Given the description of an element on the screen output the (x, y) to click on. 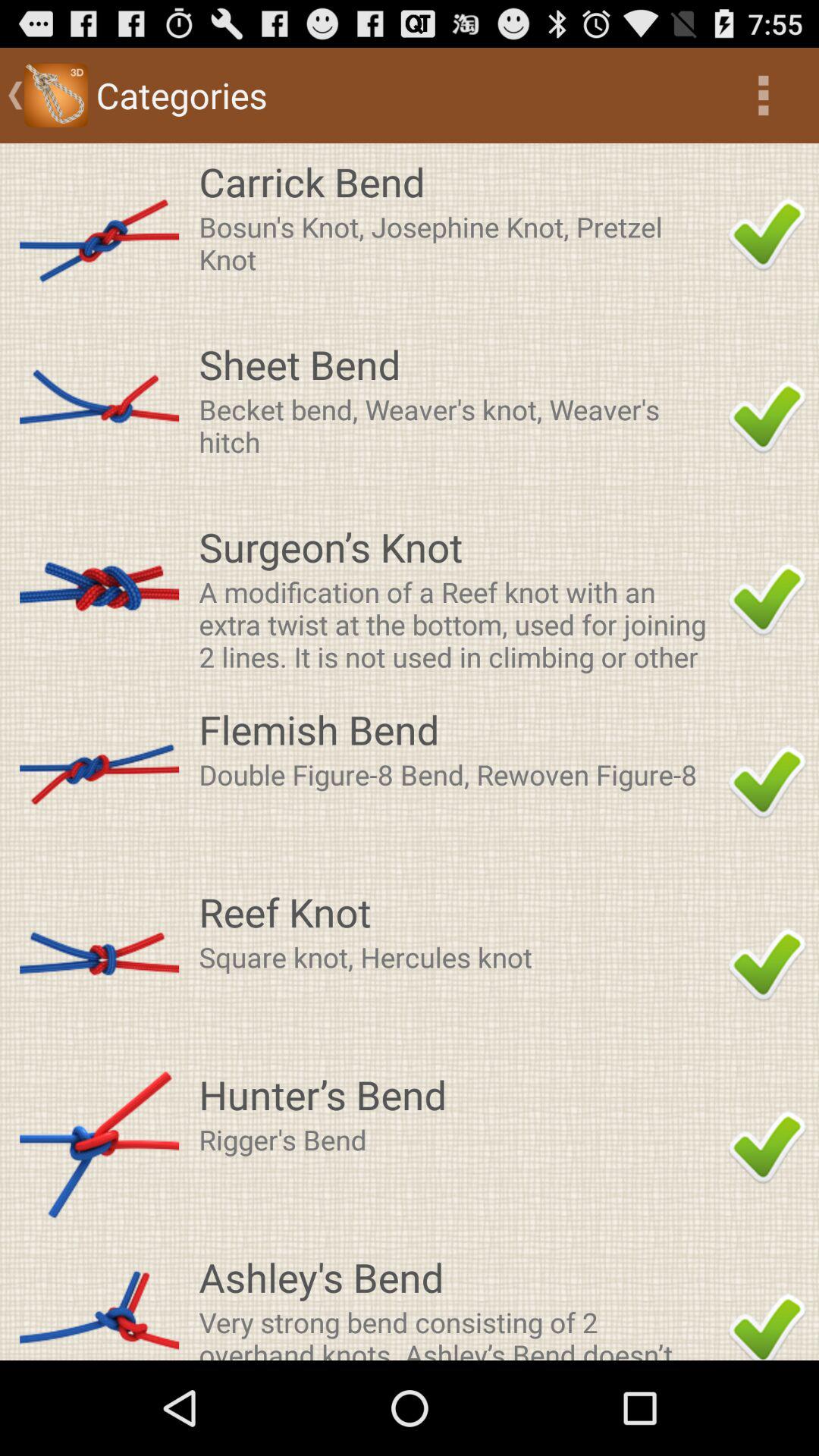
click the item above the double figure 8 (459, 728)
